Given the description of an element on the screen output the (x, y) to click on. 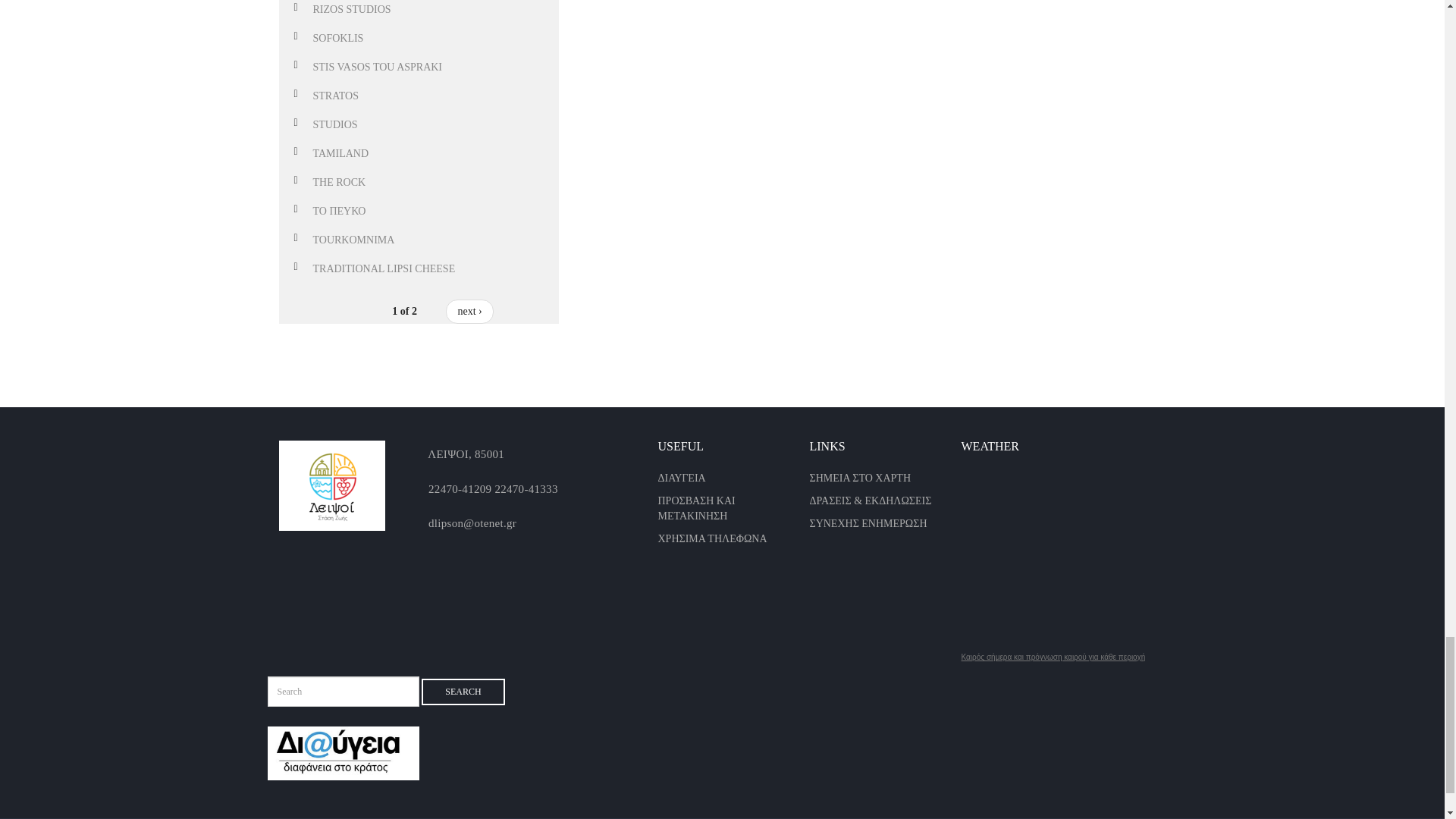
Search (463, 691)
Enter the terms you wish to search for. (342, 691)
Go to next page (469, 311)
